Given the description of an element on the screen output the (x, y) to click on. 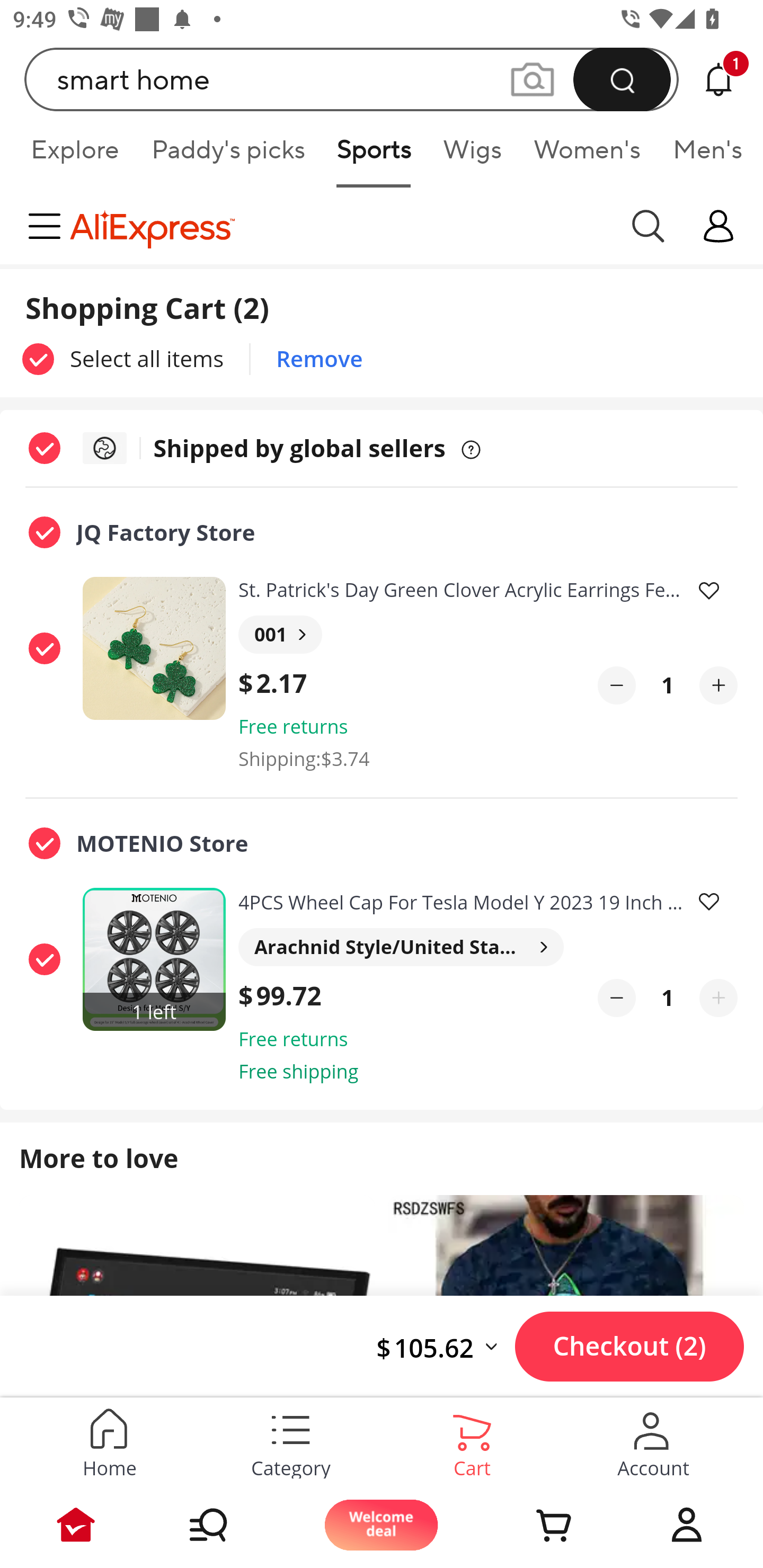
smart home (351, 79)
Explore (74, 155)
Paddy's picks (227, 155)
Wigs (472, 155)
Women's (586, 155)
Men's (701, 155)
aliexpress (340, 225)
category (47, 225)
shop (718, 225)
Remove (318, 358)
JQ Factory Store (313, 532)
3256806164834504 (157, 647)
001 (280, 634)
1 (667, 685)
MOTENIO Store (313, 842)
1 left (157, 959)
Arachnid Style/United States (401, 946)
1 (667, 997)
Checkout (2) (629, 1345)
$105.62 (445, 1346)
Home (109, 1439)
Category (290, 1439)
Cart (471, 1439)
Account (653, 1439)
Shop (228, 1524)
Cart (533, 1524)
Account (686, 1524)
